Given the description of an element on the screen output the (x, y) to click on. 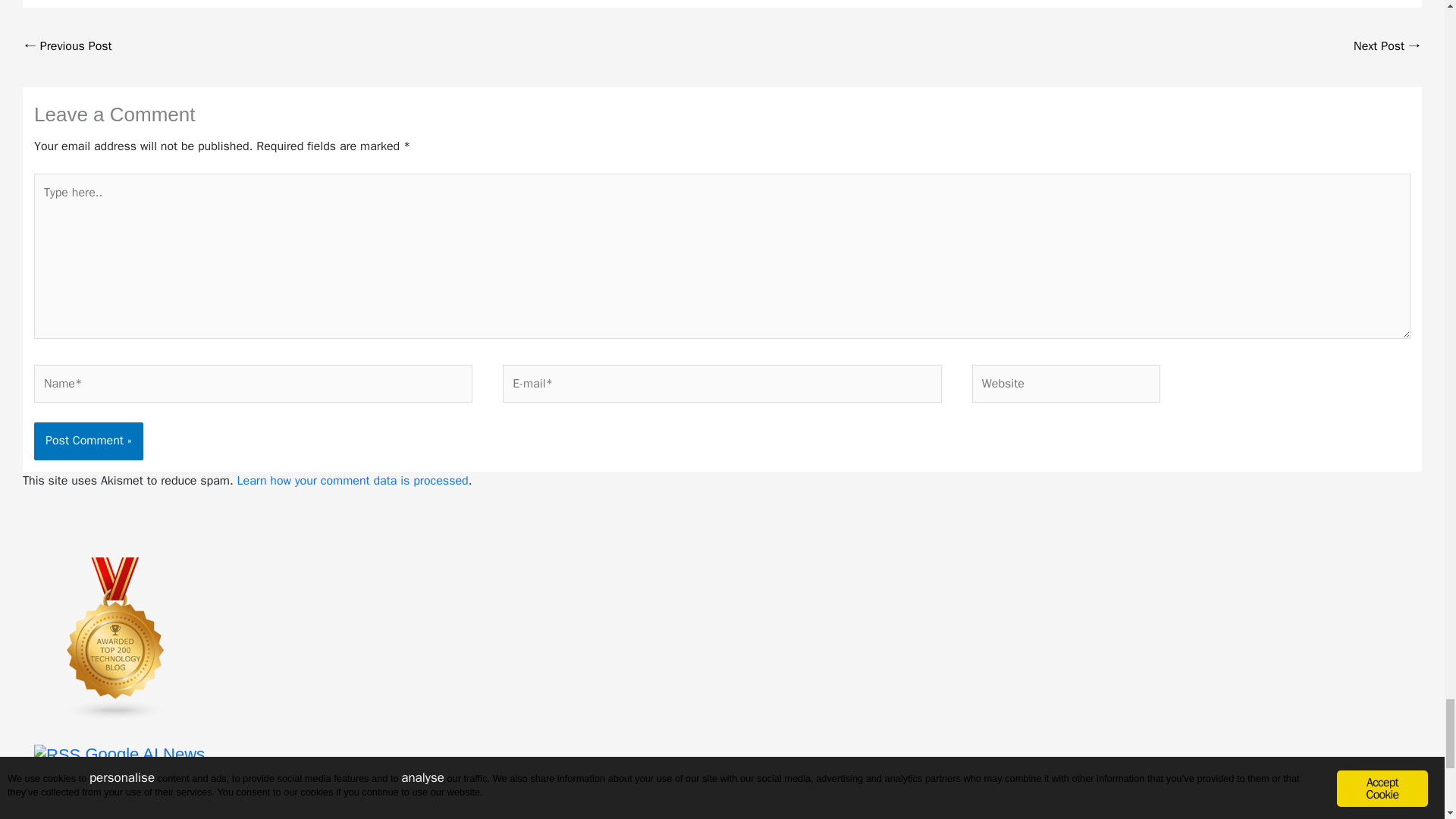
Technology blogs (115, 637)
Artificial Intelligence towards automated fake news (1387, 47)
Artificial Intelligence and ethics: fears and controversy (68, 47)
